Given the description of an element on the screen output the (x, y) to click on. 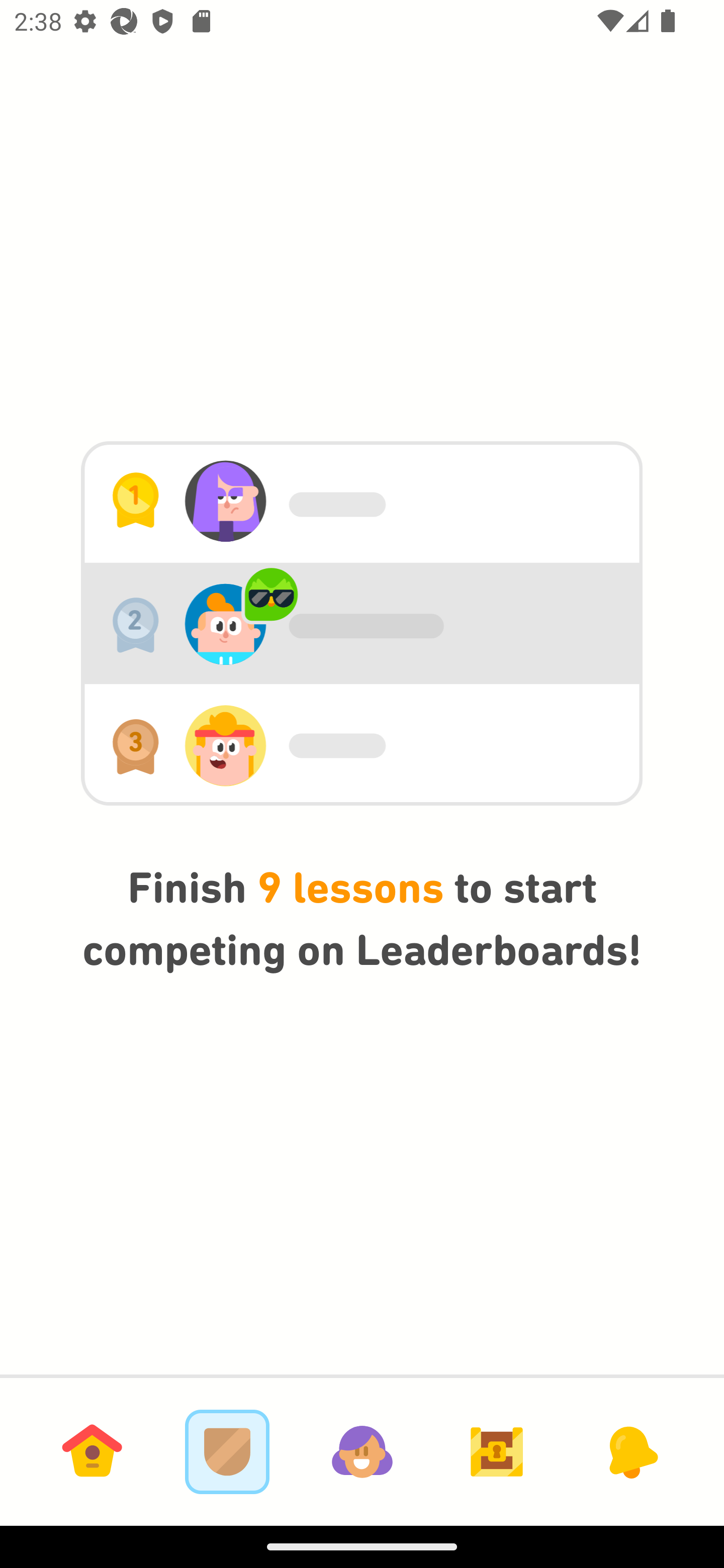
Learn Tab (91, 1451)
Leagues Tab (227, 1451)
Profile Tab (361, 1451)
Goals Tab (496, 1451)
News Tab (631, 1451)
